Given the description of an element on the screen output the (x, y) to click on. 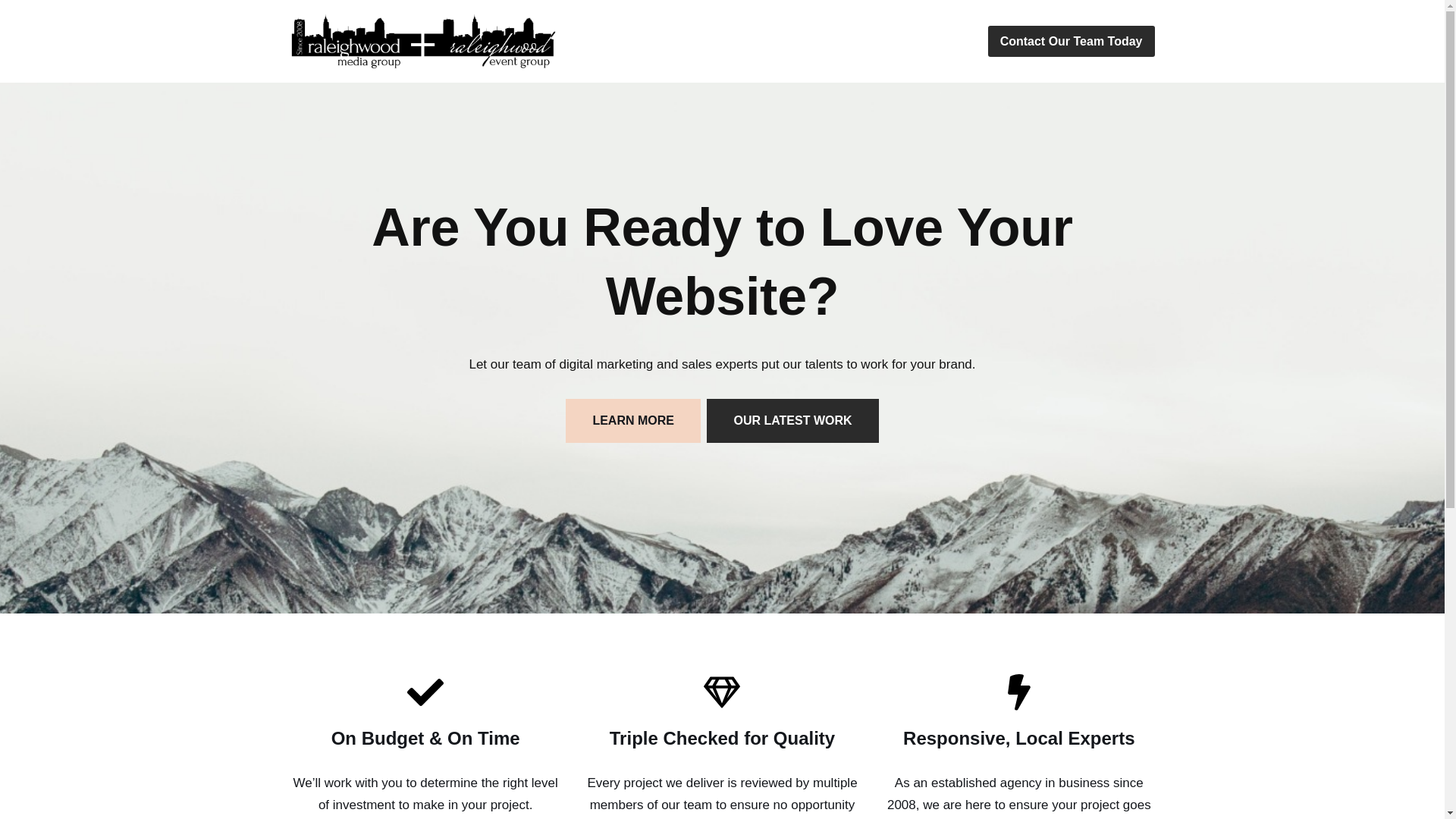
LEARN MORE (633, 420)
OUR LATEST WORK (791, 420)
Contact Our Team Today (1071, 41)
Skip to content (11, 31)
